Given the description of an element on the screen output the (x, y) to click on. 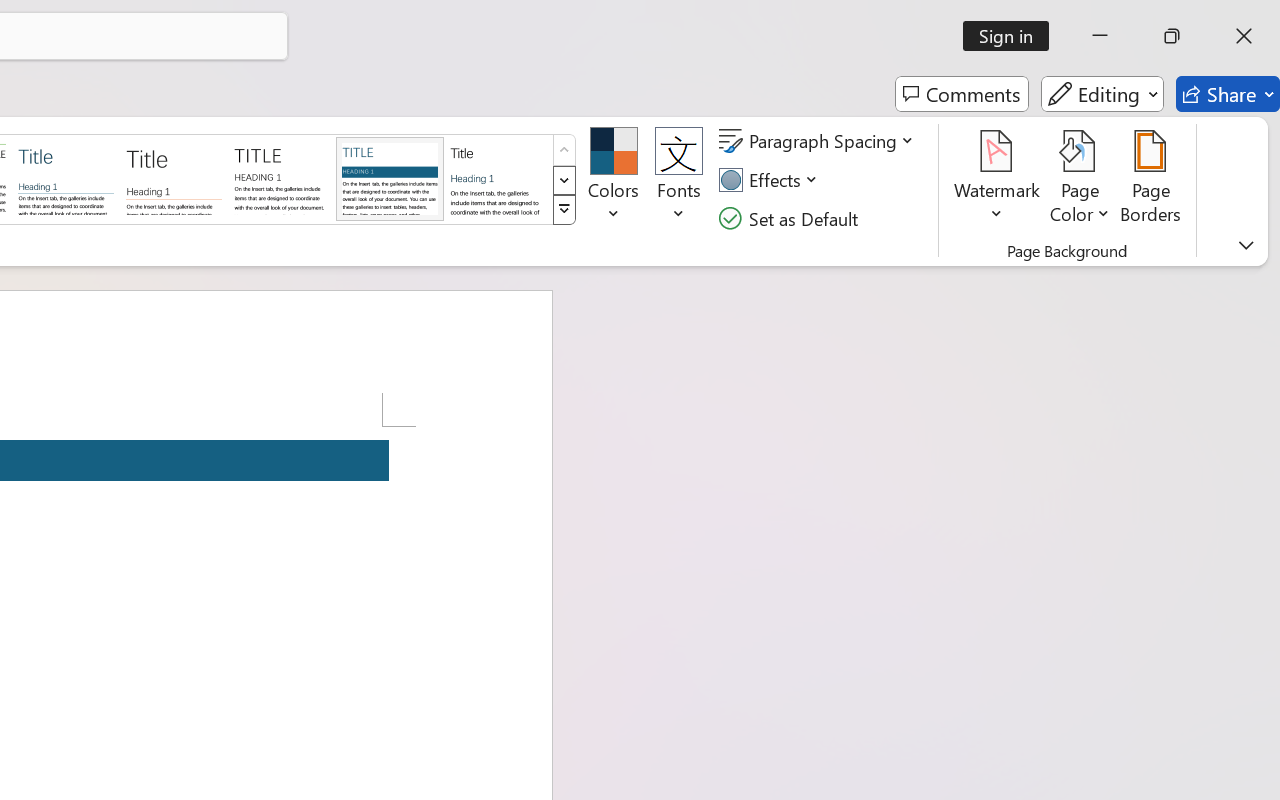
Style Set (564, 209)
Fonts (678, 179)
Word (497, 178)
Paragraph Spacing (819, 141)
Watermark (997, 179)
Lines (Stylish) (173, 178)
Page Borders... (1151, 179)
Editing (1101, 94)
Minimalist (281, 178)
Lines (Simple) (65, 178)
